Given the description of an element on the screen output the (x, y) to click on. 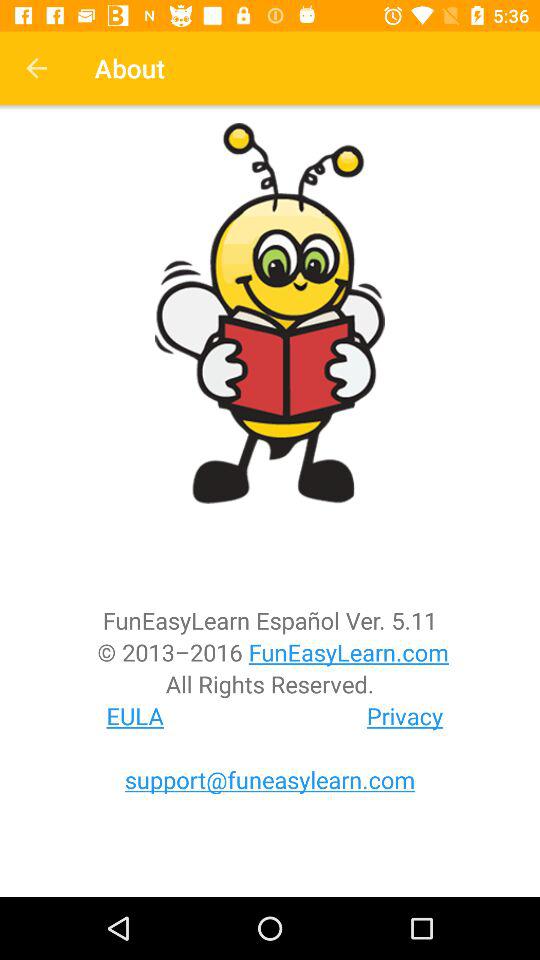
launch icon to the right of eula (405, 715)
